Given the description of an element on the screen output the (x, y) to click on. 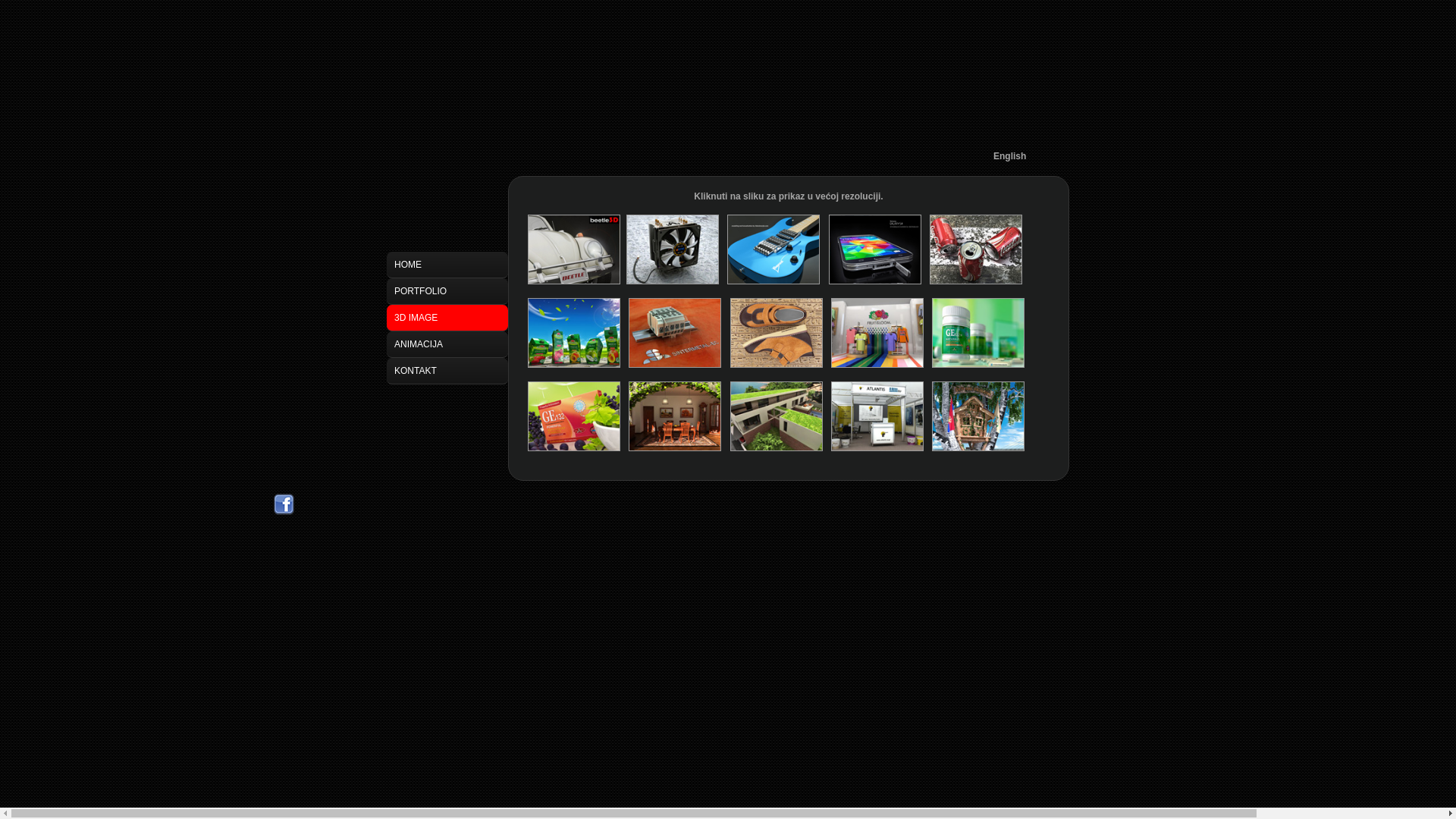
KONTAKT Element type: text (447, 370)
Nektar Element type: hover (573, 364)
HOME Element type: text (447, 264)
PORTFOLIO Element type: text (447, 291)
Ibanez Element type: hover (773, 281)
3D IMAGE Element type: text (447, 317)
Titan Fenrir Element type: hover (672, 281)
ANIMACIJA Element type: text (447, 344)
CocaCola Element type: hover (975, 281)
Samsung s5 Element type: hover (874, 281)
English Element type: text (1009, 155)
